Given the description of an element on the screen output the (x, y) to click on. 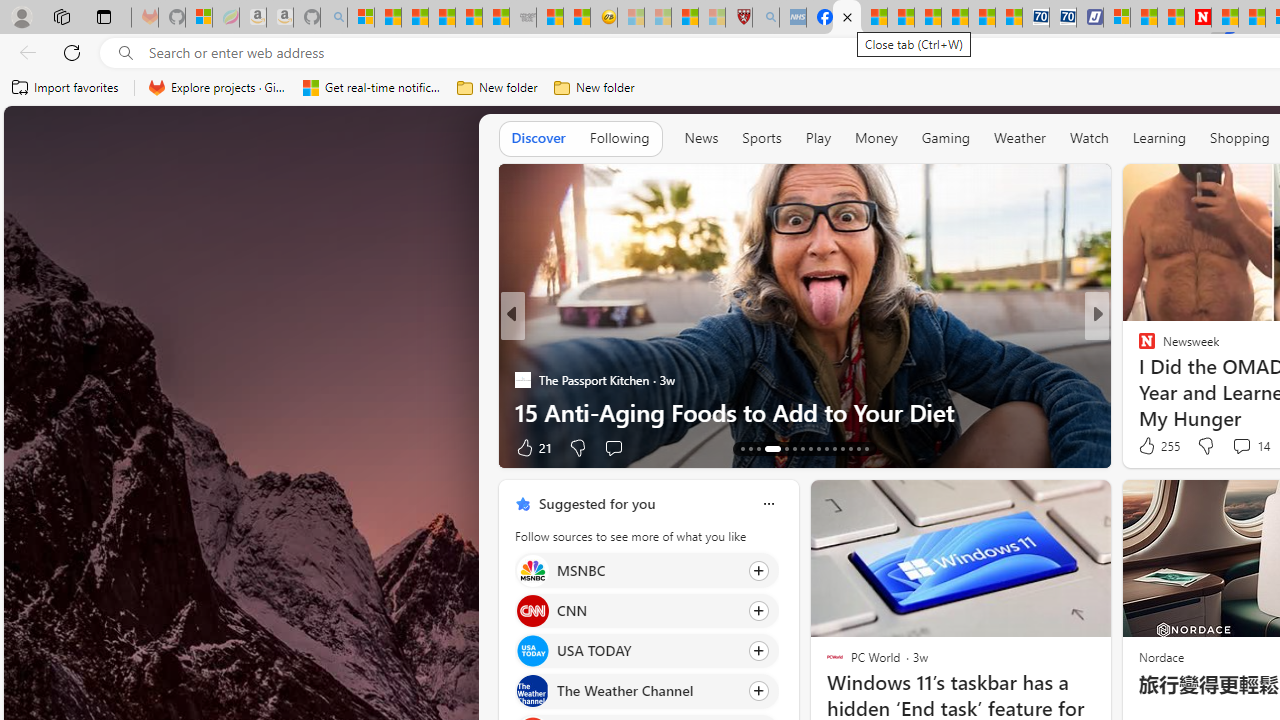
Best Clean Eating (1138, 347)
View comments 2 Comment (11, 447)
CNN (532, 610)
AutomationID: tab-78 (850, 448)
2024 Promotion - Book Here (804, 411)
Import favorites (65, 88)
Cheap Car Rentals - Save70.com (1035, 17)
99 Like (1149, 447)
News Nation (1138, 380)
Sports (761, 137)
